Given the description of an element on the screen output the (x, y) to click on. 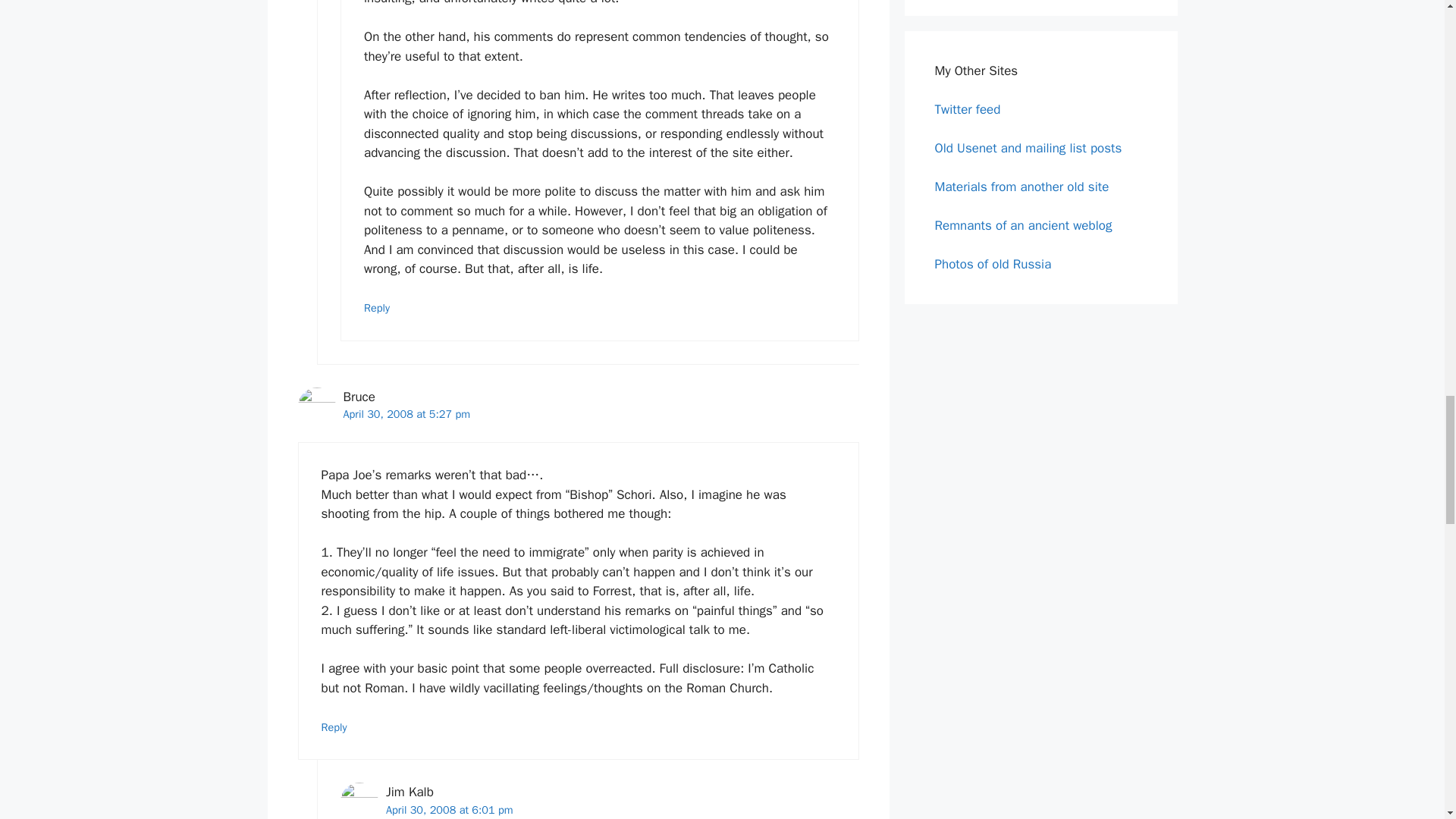
April 30, 2008 at 5:27 pm (406, 413)
Reply (334, 726)
Reply (377, 307)
April 30, 2008 at 6:01 pm (449, 809)
